Given the description of an element on the screen output the (x, y) to click on. 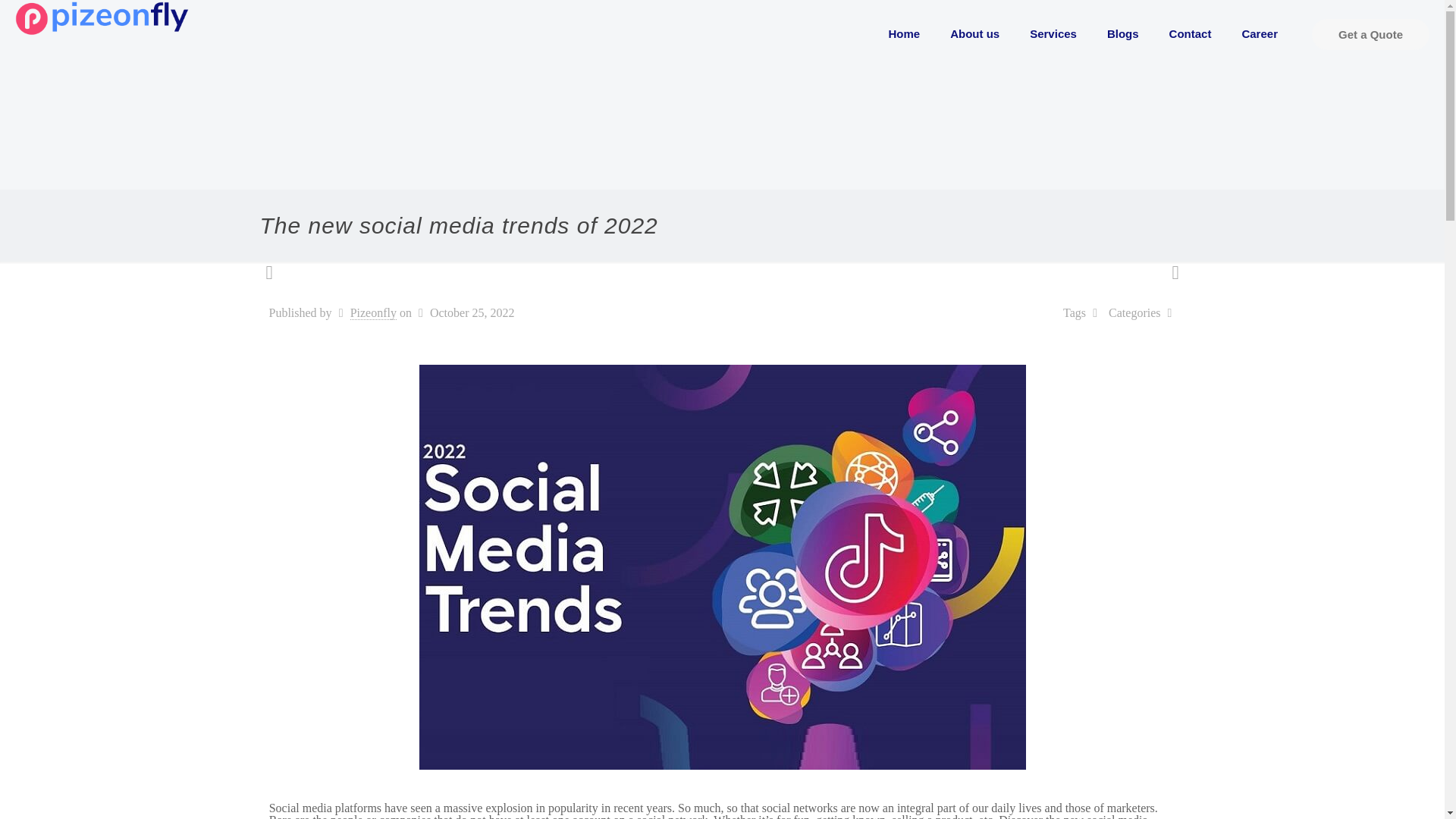
Pizeonfly - Website Design And Digital Marketing Solutions (101, 17)
Contact (1190, 33)
Pizeonfly (373, 313)
Services (1053, 33)
Get a Quote (1370, 33)
About us (974, 33)
Blogs (1123, 33)
Home (904, 33)
Career (1258, 33)
